Given the description of an element on the screen output the (x, y) to click on. 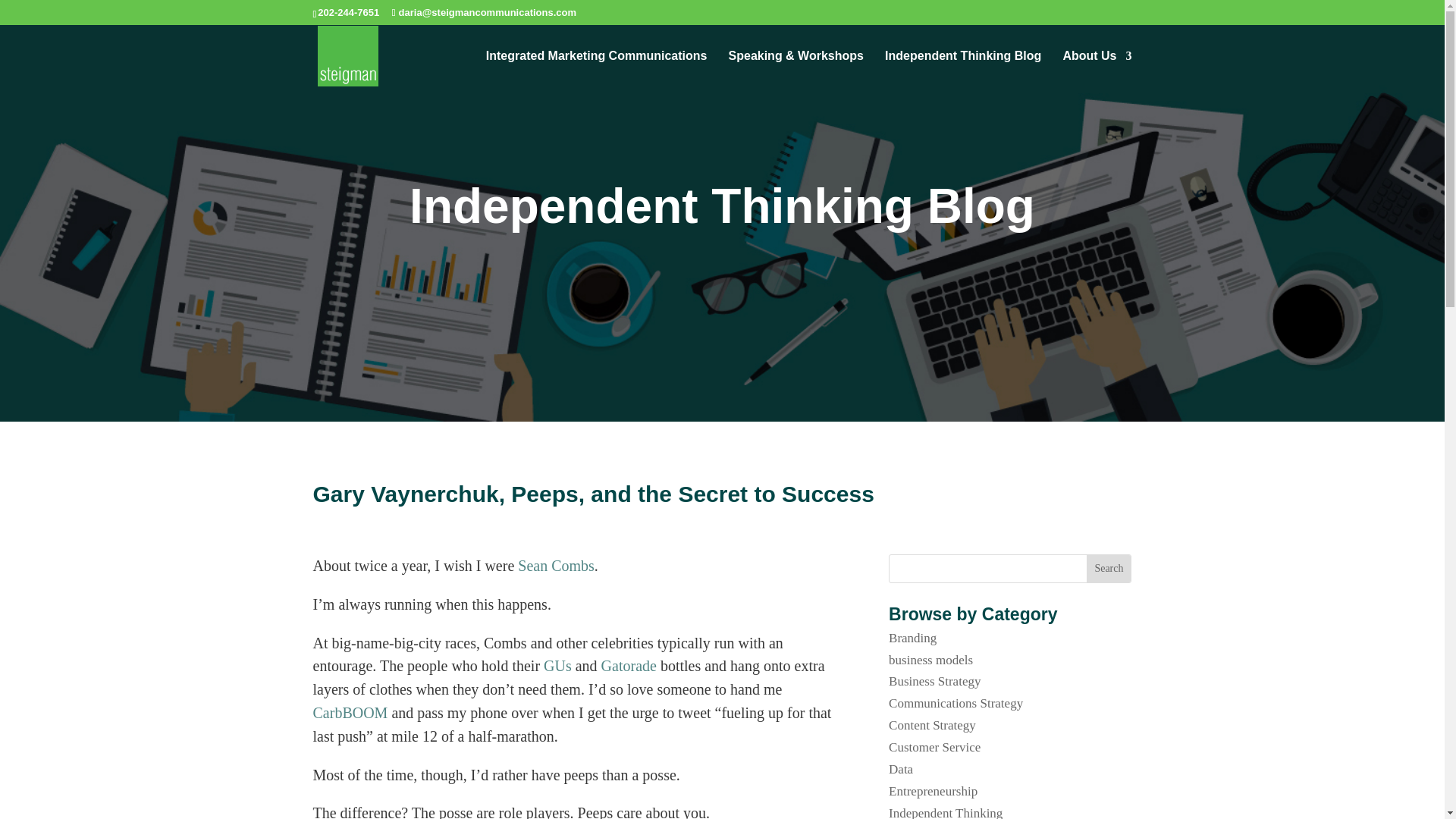
Integrated Marketing Communications (596, 67)
Search (1108, 568)
Entrepreneurship (932, 790)
Search (1108, 568)
Gatorade (628, 665)
Communications Strategy (955, 703)
202-244-7651 (347, 12)
Sean Combs (556, 565)
Customer Service (933, 747)
Independent Thinking (945, 812)
business models (930, 659)
Independent Thinking Blog (963, 67)
Branding (912, 637)
GUs (557, 665)
Data (900, 769)
